Given the description of an element on the screen output the (x, y) to click on. 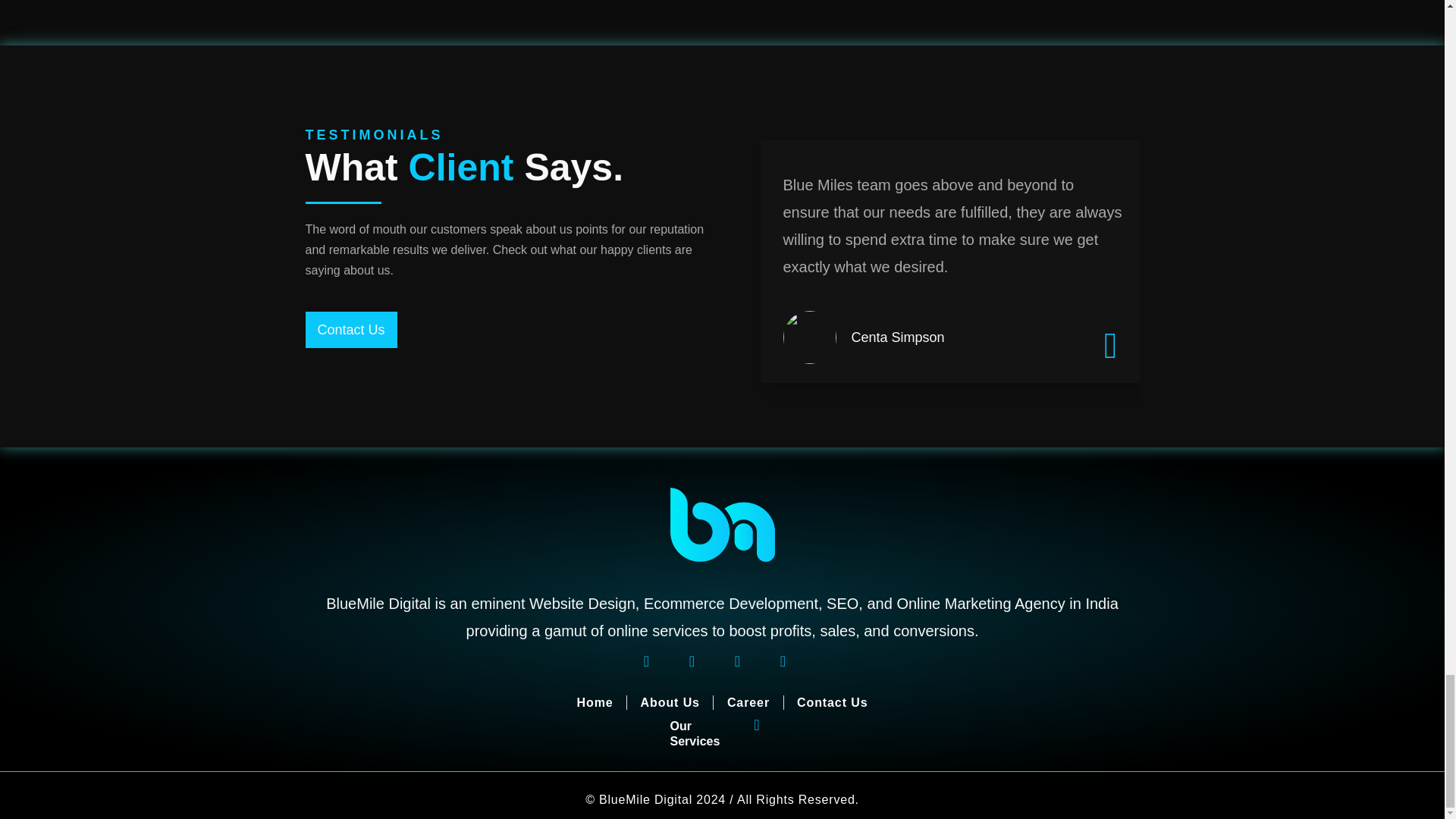
Career (748, 702)
Contact Us (831, 702)
Contact Us (350, 330)
About Us (670, 702)
Home (594, 702)
Our Services (694, 733)
